Given the description of an element on the screen output the (x, y) to click on. 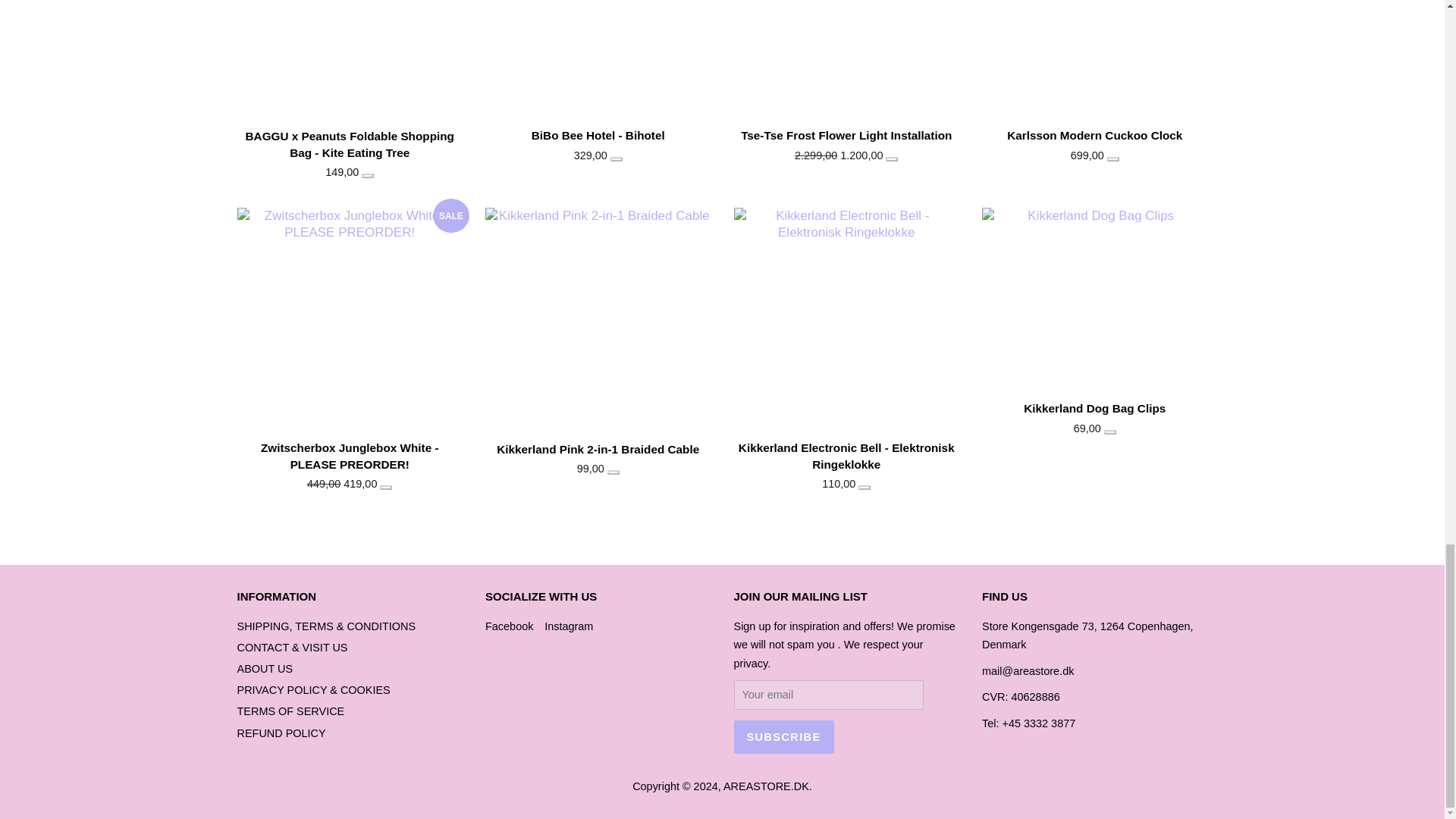
AREASTORE.DK on Instagram (568, 625)
Subscribe (783, 736)
AREASTORE.DK on Facebook (508, 625)
